Given the description of an element on the screen output the (x, y) to click on. 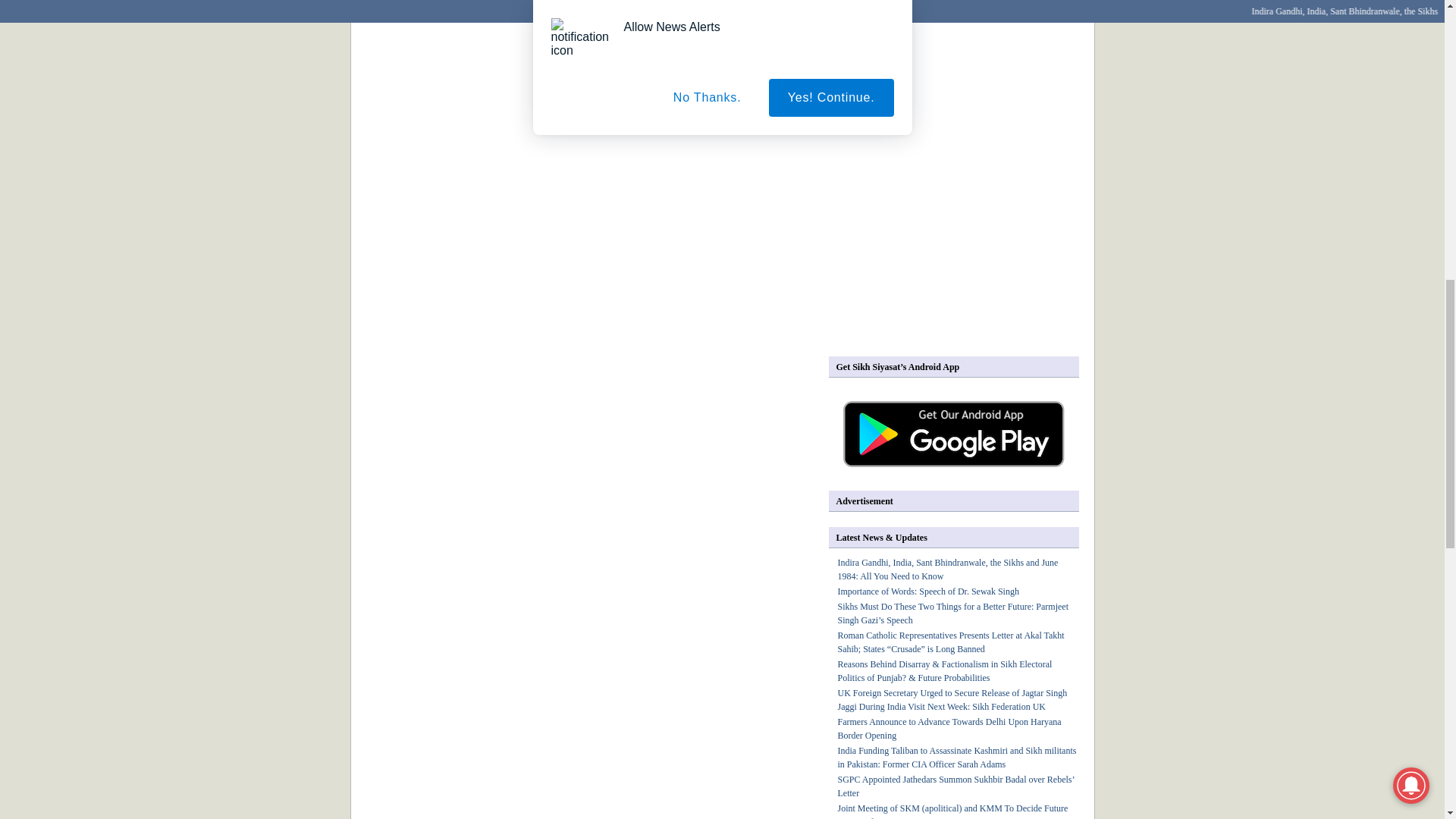
Advertisement (955, 233)
